Given the description of an element on the screen output the (x, y) to click on. 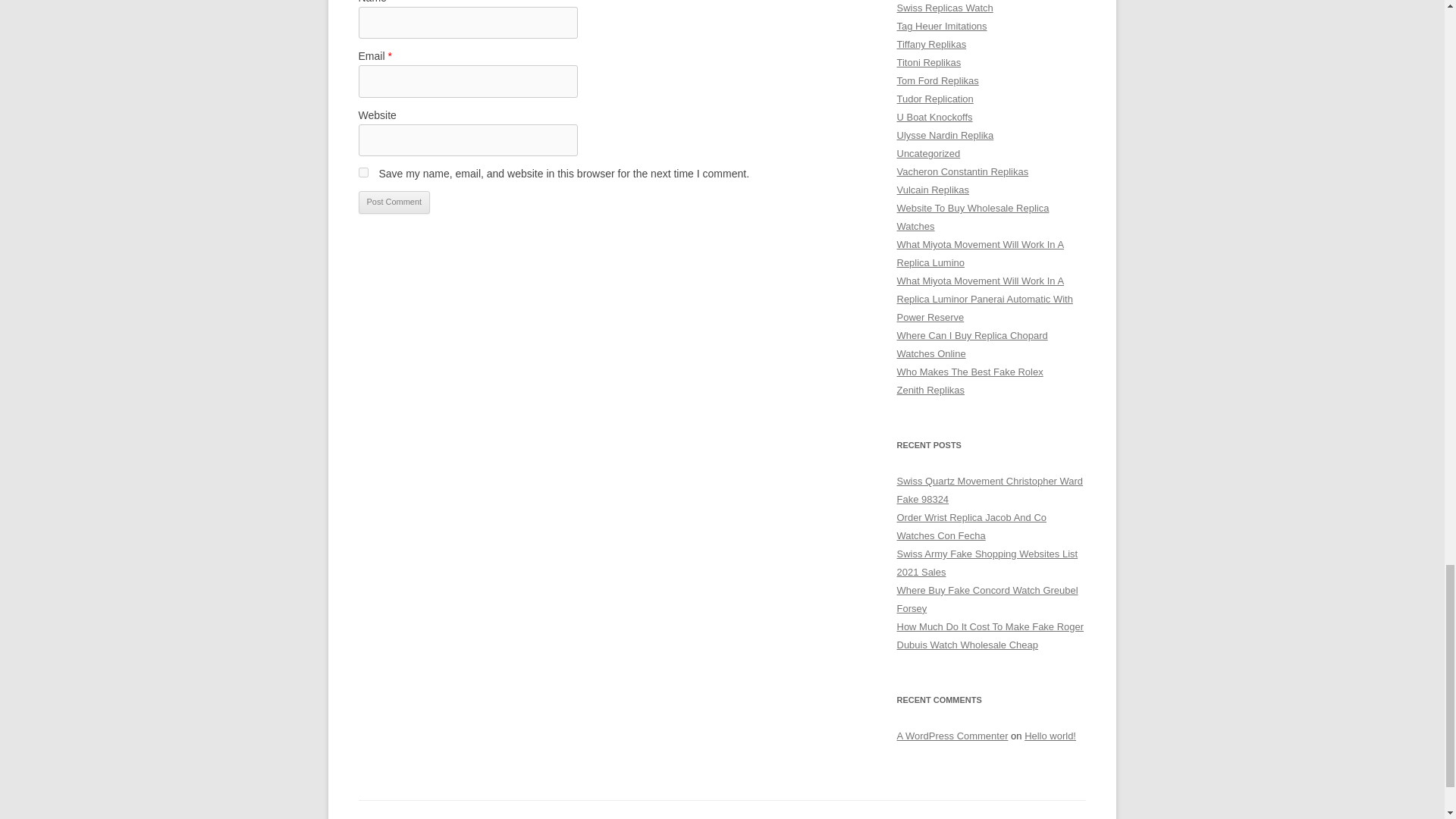
Post Comment (393, 201)
Post Comment (393, 201)
yes (363, 172)
